Given the description of an element on the screen output the (x, y) to click on. 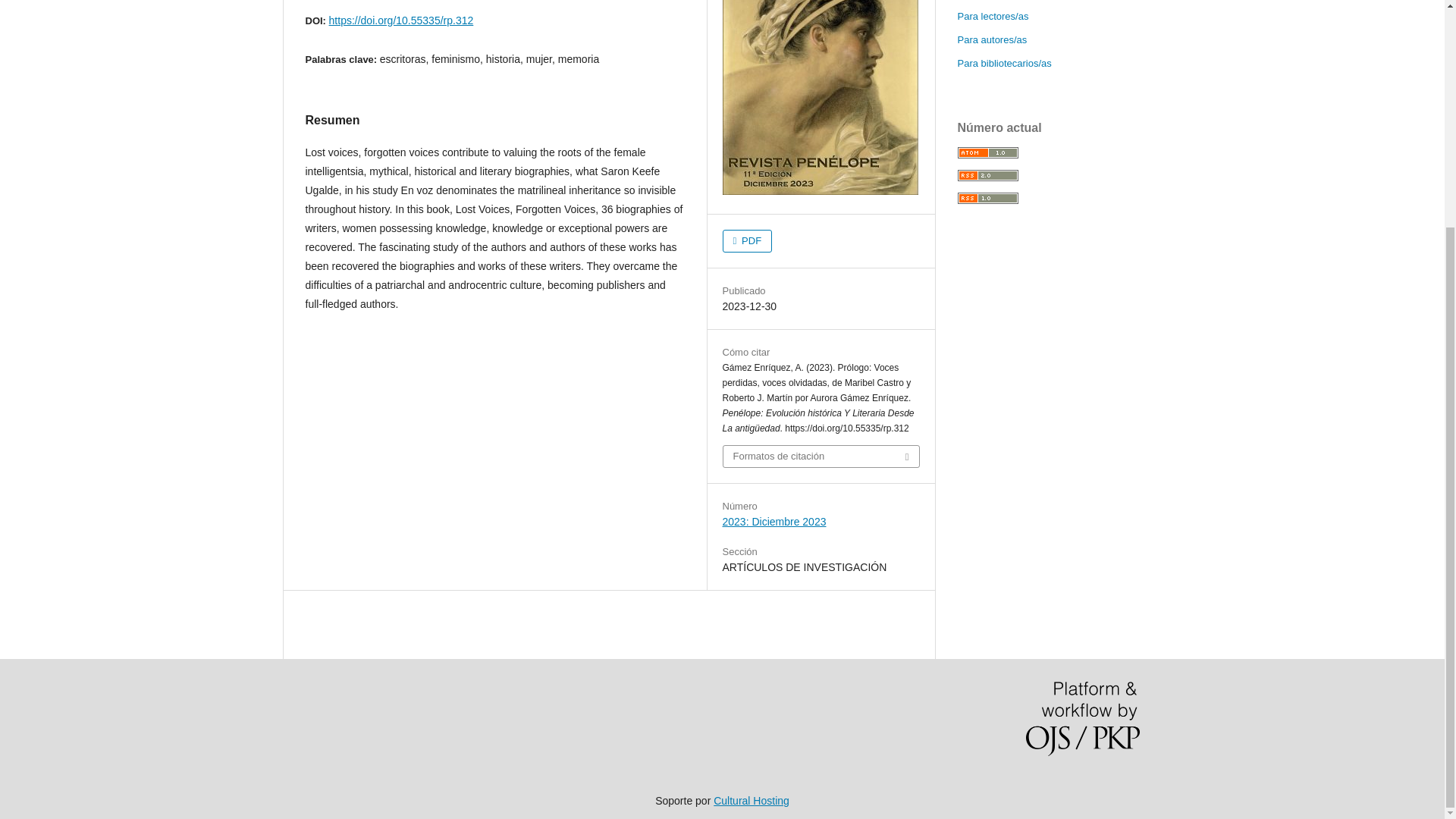
2023: Diciembre 2023 (773, 521)
Servicios Web para Instituciones Culturaless (751, 800)
PDF (746, 241)
